Given the description of an element on the screen output the (x, y) to click on. 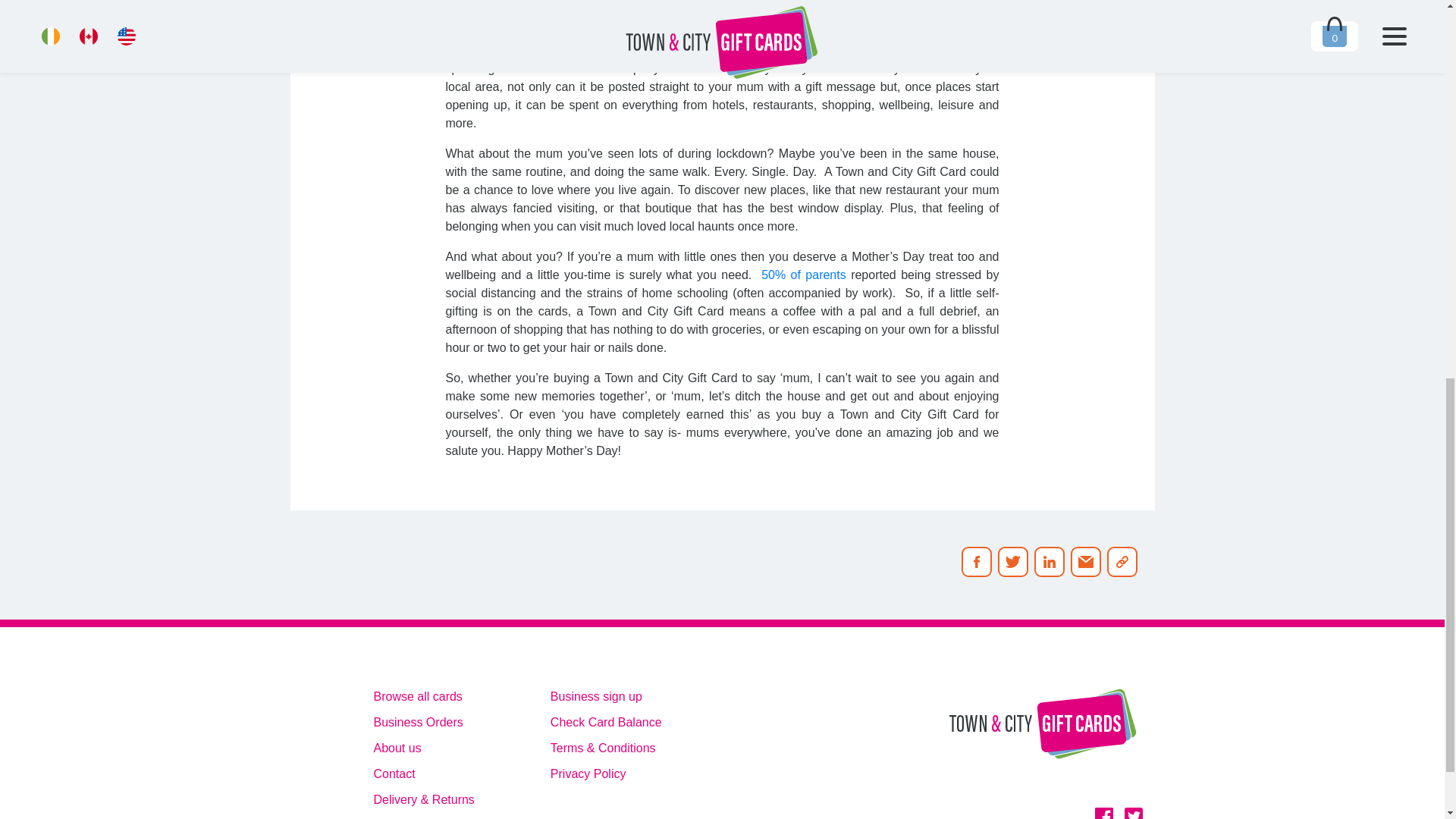
Check Card Balance (606, 722)
Contact (423, 773)
Business Orders (423, 722)
Browse all cards (423, 696)
Privacy Policy (606, 773)
About us (423, 748)
Business sign up (606, 696)
